Given the description of an element on the screen output the (x, y) to click on. 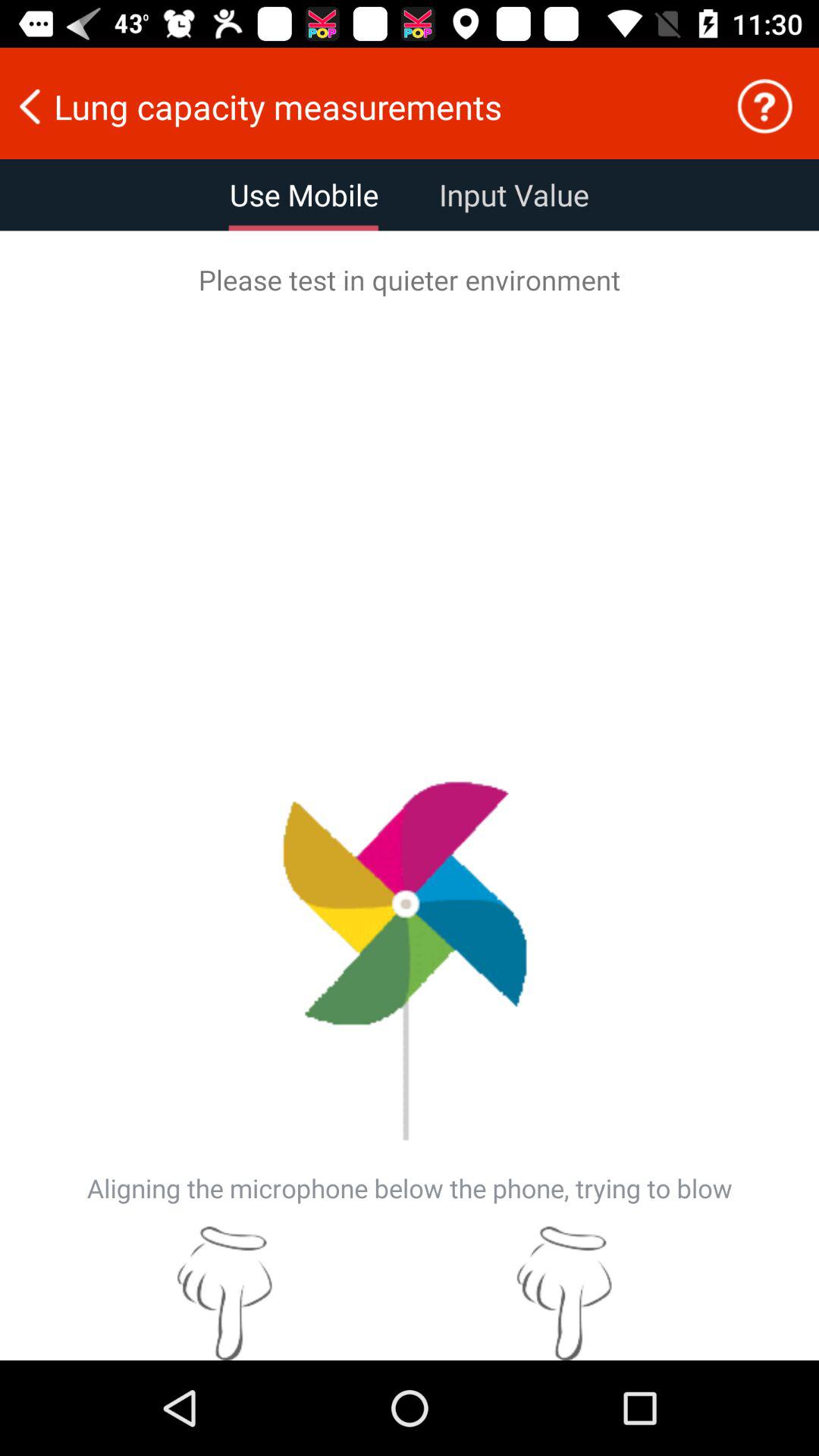
turn on the icon next to use mobile item (513, 194)
